Given the description of an element on the screen output the (x, y) to click on. 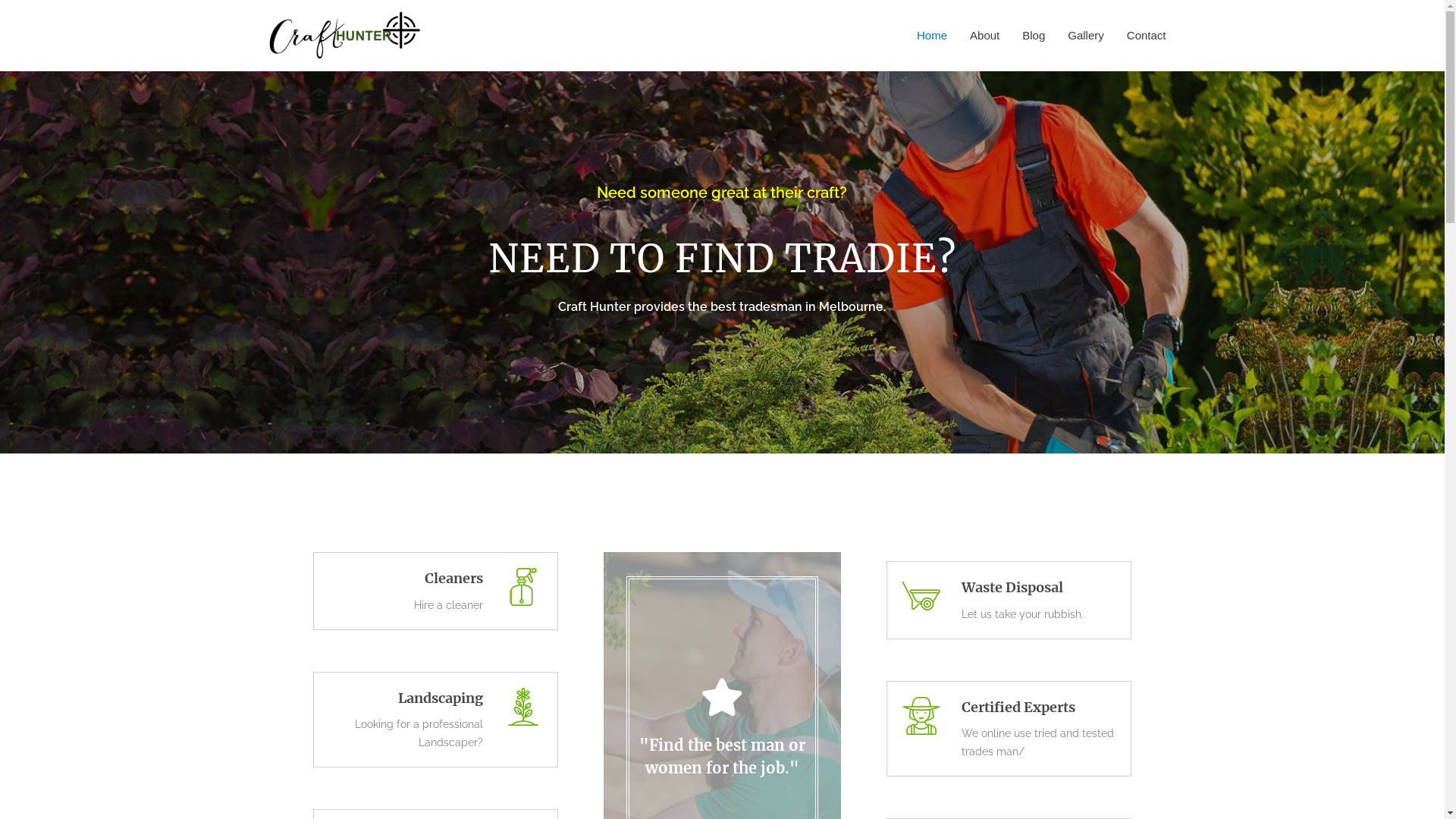
Home Element type: text (931, 34)
Need someone great at their craft? Element type: text (721, 192)
Contact Element type: text (1146, 34)
Gallery Element type: text (1085, 34)
About Element type: text (984, 34)
Blog Element type: text (1033, 34)
